Given the description of an element on the screen output the (x, y) to click on. 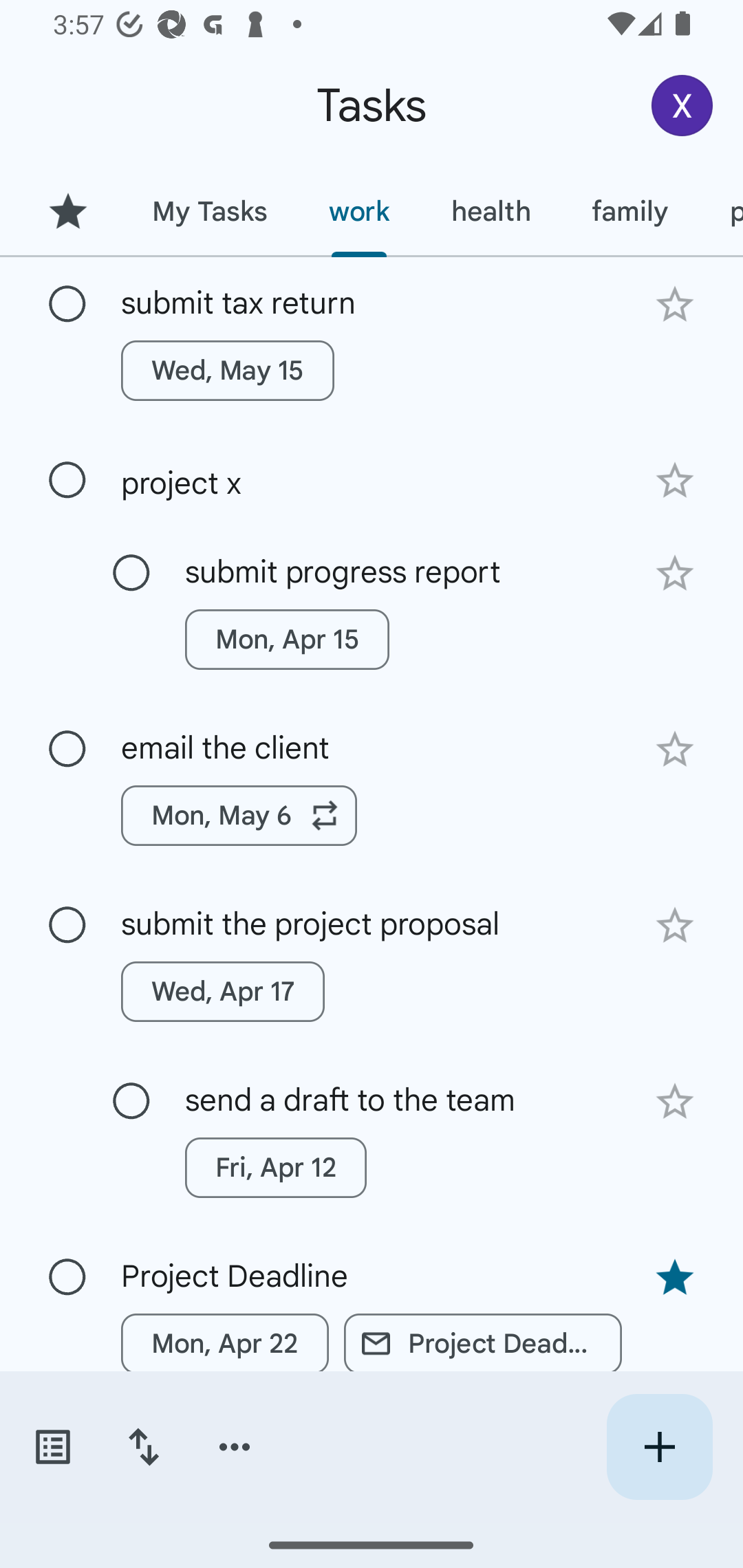
Starred (67, 211)
My Tasks (209, 211)
health (490, 211)
family (629, 211)
Add star (674, 303)
Mark as complete (67, 304)
Wed, May 15 (227, 369)
Add star (674, 480)
Mark as complete (67, 480)
Add star (674, 573)
Mark as complete (131, 572)
Mon, Apr 15 (287, 639)
Add star (674, 749)
Mark as complete (67, 750)
Mon, May 6 (239, 814)
Add star (674, 924)
Mark as complete (67, 925)
Wed, Apr 17 (222, 991)
Add star (674, 1101)
Mark as complete (131, 1101)
Fri, Apr 12 (276, 1167)
Remove star (674, 1277)
Mark as complete (67, 1276)
Mon, Apr 22 (225, 1343)
Project Deadline Related link (482, 1343)
Switch task lists (52, 1447)
Create new task (659, 1446)
Change sort order (143, 1446)
More options (234, 1446)
